Given the description of an element on the screen output the (x, y) to click on. 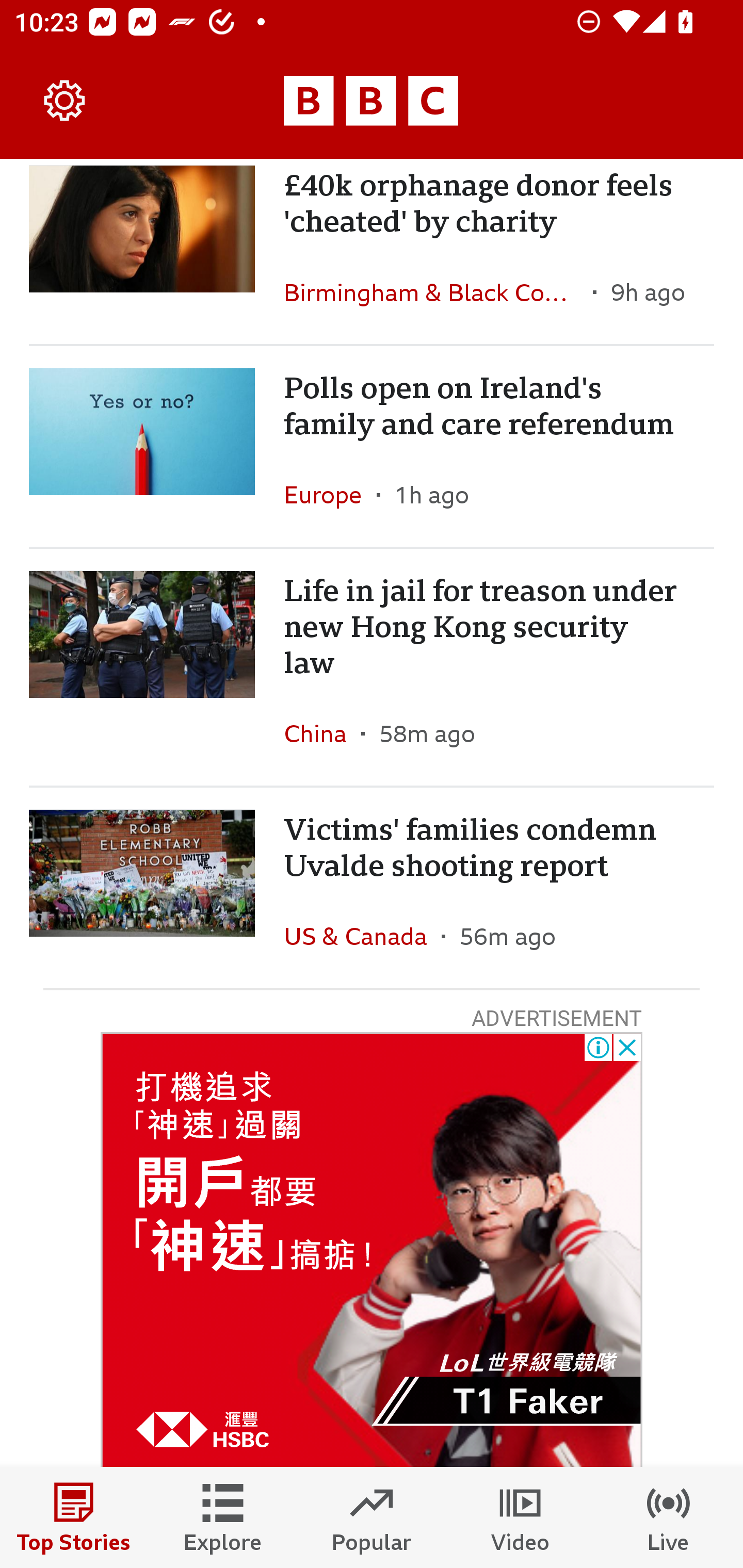
Settings (64, 100)
Europe In the section Europe (329, 494)
China In the section China (322, 733)
US & Canada In the section US & Canada (362, 935)
HSBC javascript:window.open(window (371, 1249)
Explore (222, 1517)
Popular (371, 1517)
Video (519, 1517)
Live (668, 1517)
